Given the description of an element on the screen output the (x, y) to click on. 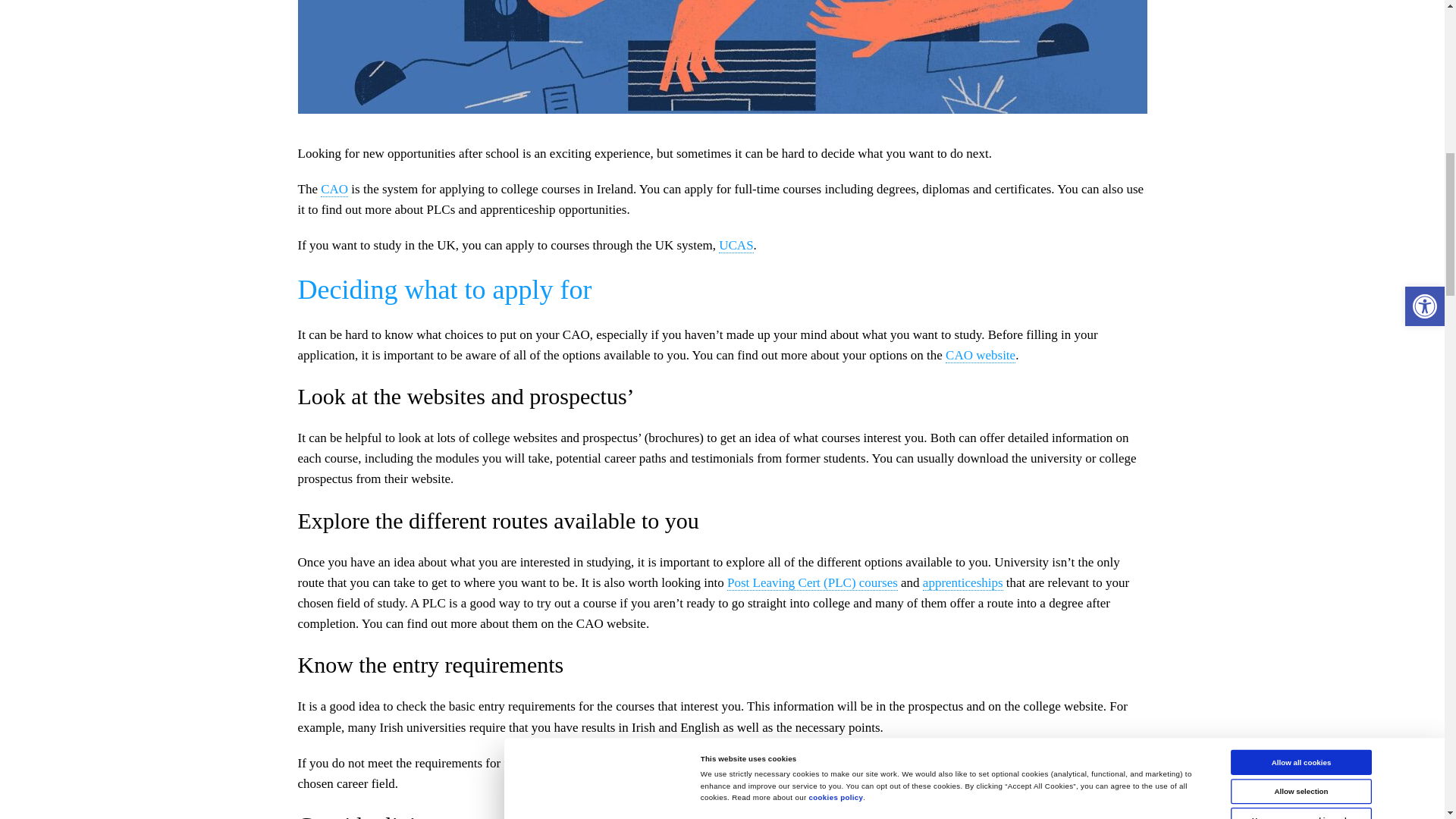
Show details (1134, 14)
